Given the description of an element on the screen output the (x, y) to click on. 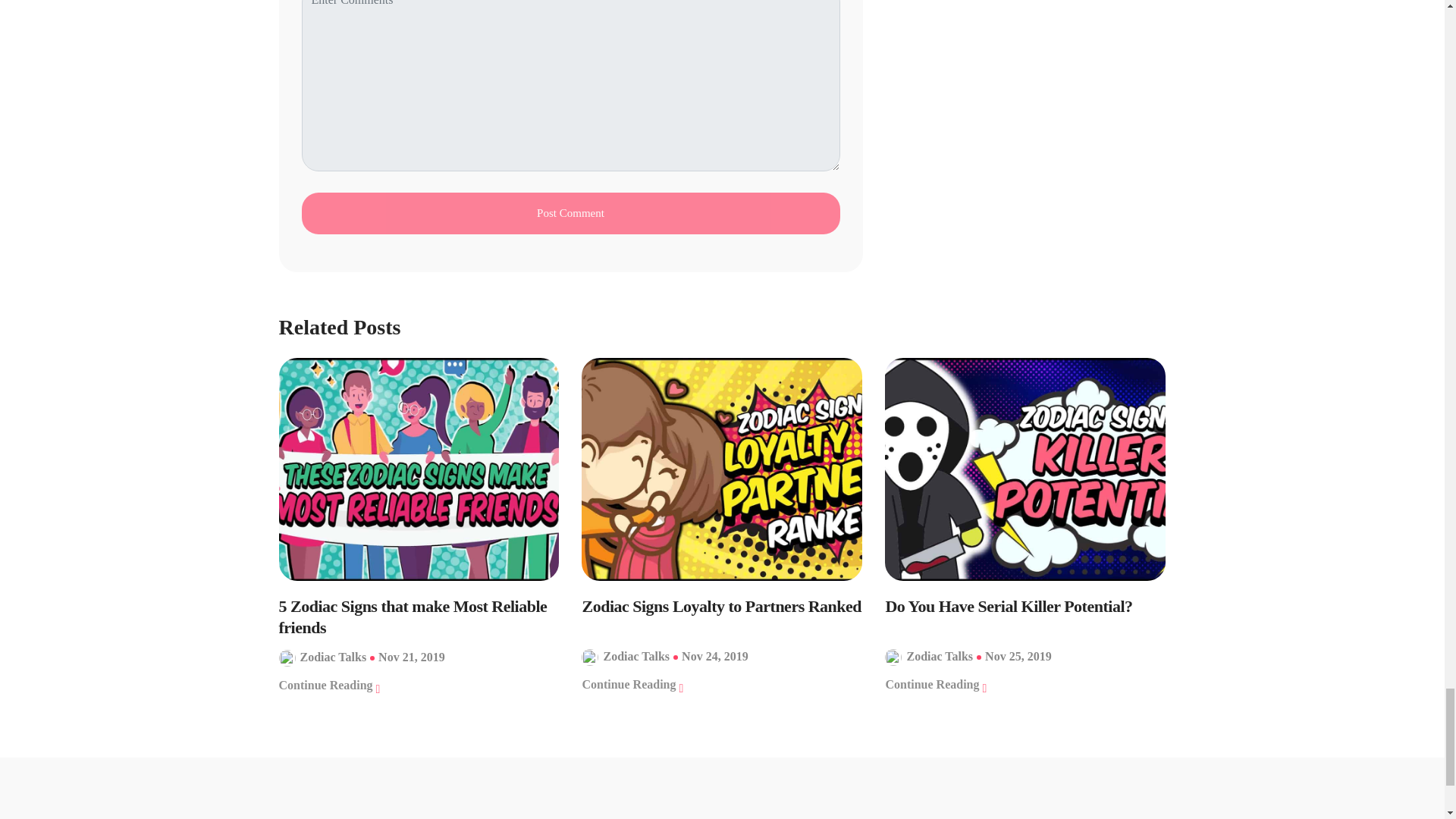
Post Comment (570, 213)
